Given the description of an element on the screen output the (x, y) to click on. 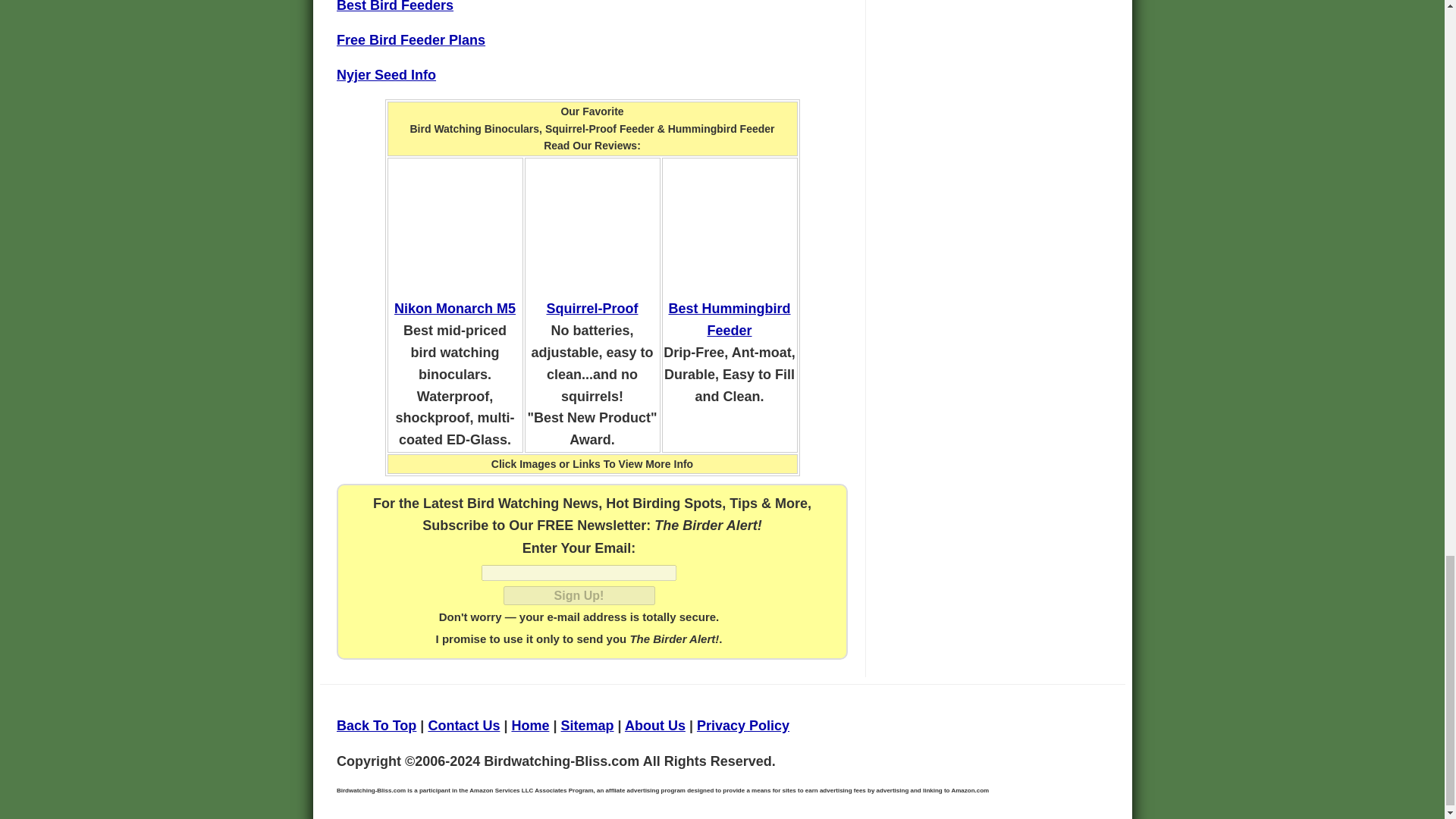
Nyjer Seed Info (385, 74)
Best Bird Feeders (394, 6)
Squirrel-Proof (591, 308)
Nikon Monarch M5 (454, 308)
Sign Up! (579, 595)
Free Bird Feeder Plans (410, 39)
Best Hummingbird Feeder (729, 319)
